Given the description of an element on the screen output the (x, y) to click on. 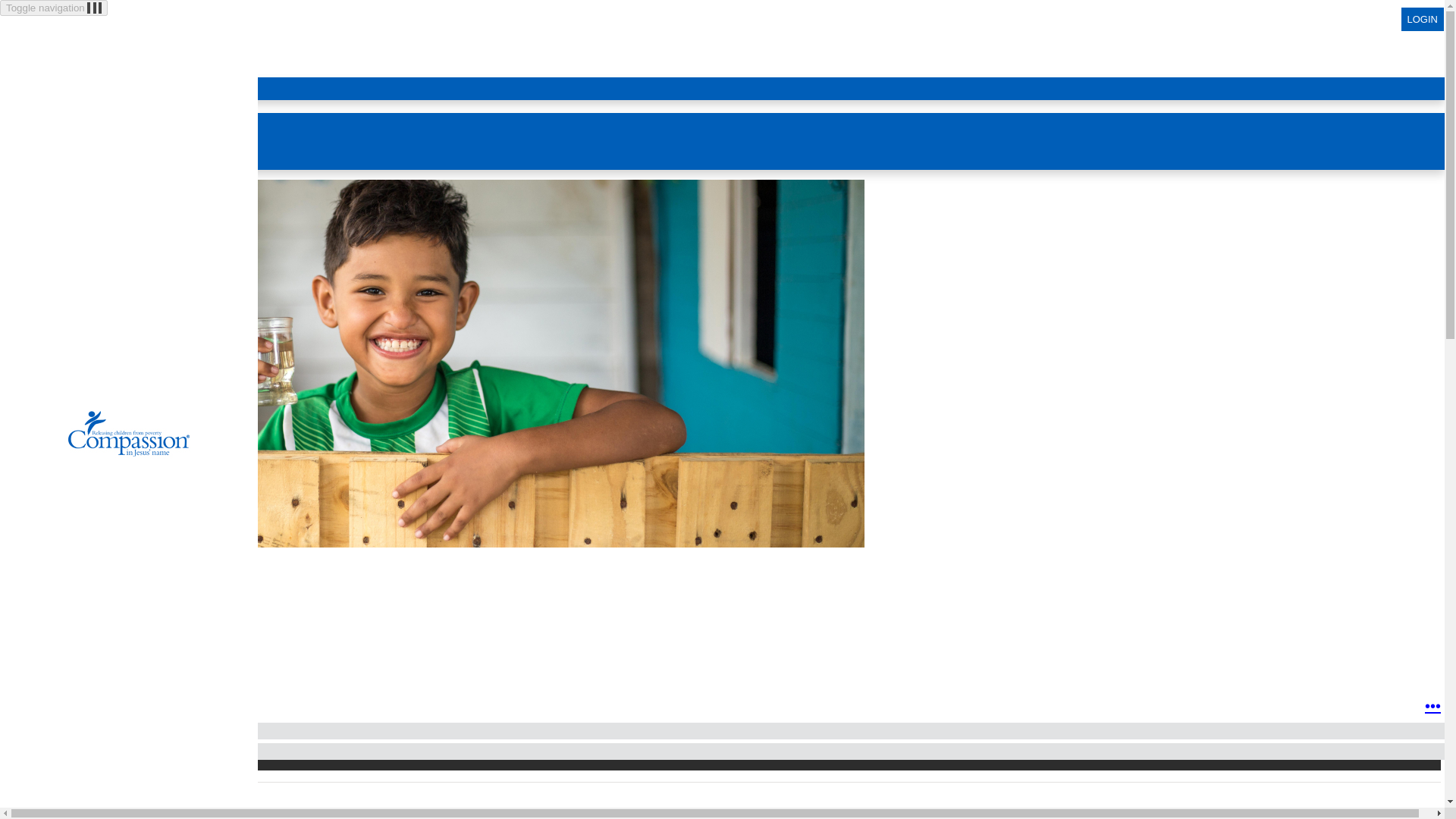
GET STARTED (61, 585)
Have questions? Contact us! (125, 163)
DONATE (44, 642)
HOME (47, 44)
LOGIN (1422, 19)
Make a General Donation (118, 93)
Donate to a Fundraiser (112, 82)
GET STARTED (68, 57)
Get Started (86, 152)
Toggle navigation       (53, 7)
Fundraising Tips (98, 129)
Our Top Fundraisers (106, 141)
HOW THIS WORKS (81, 106)
FAQ (71, 118)
DONATE (53, 70)
